Given the description of an element on the screen output the (x, y) to click on. 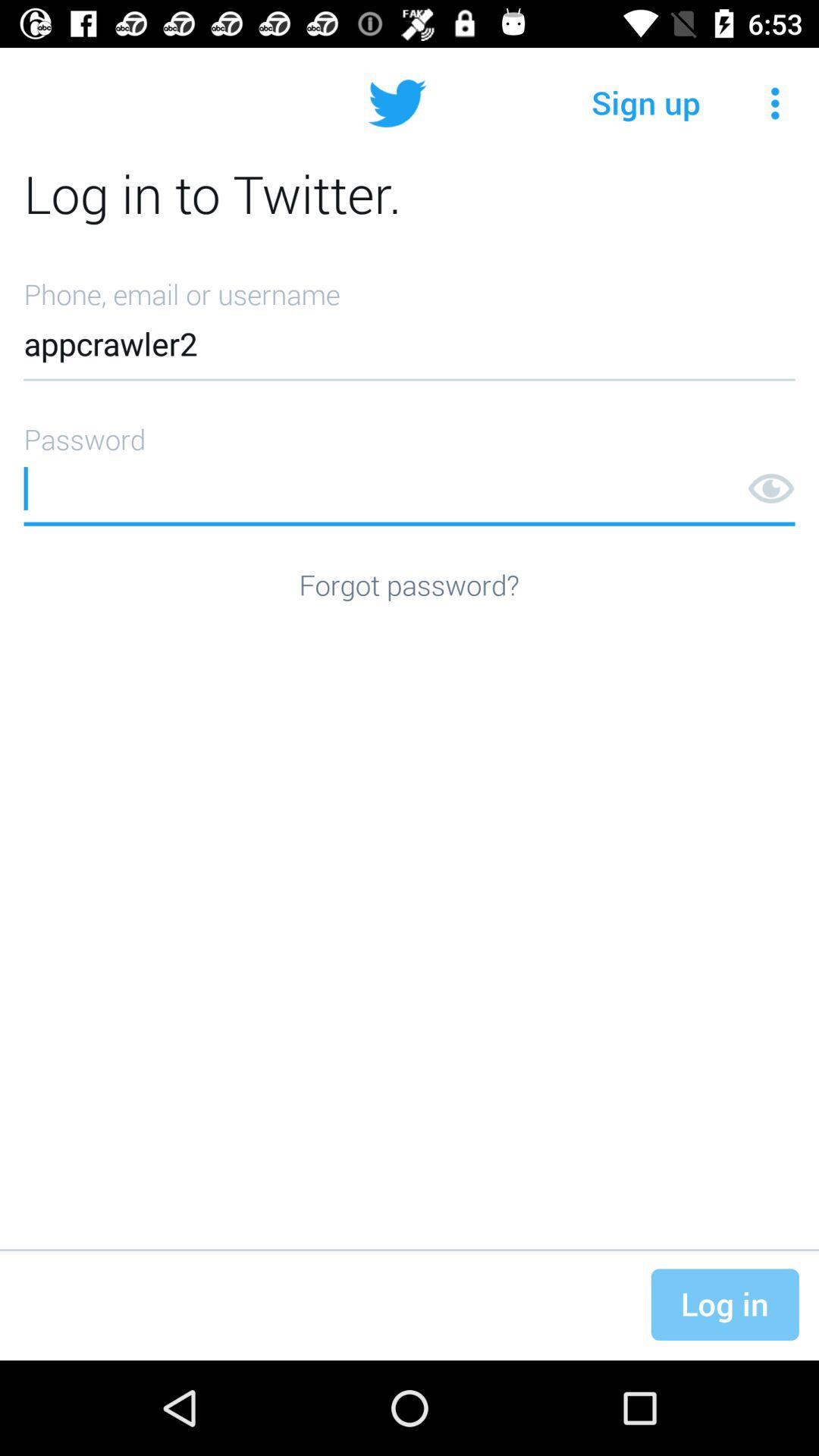
turn off the forgot password? (409, 584)
